Given the description of an element on the screen output the (x, y) to click on. 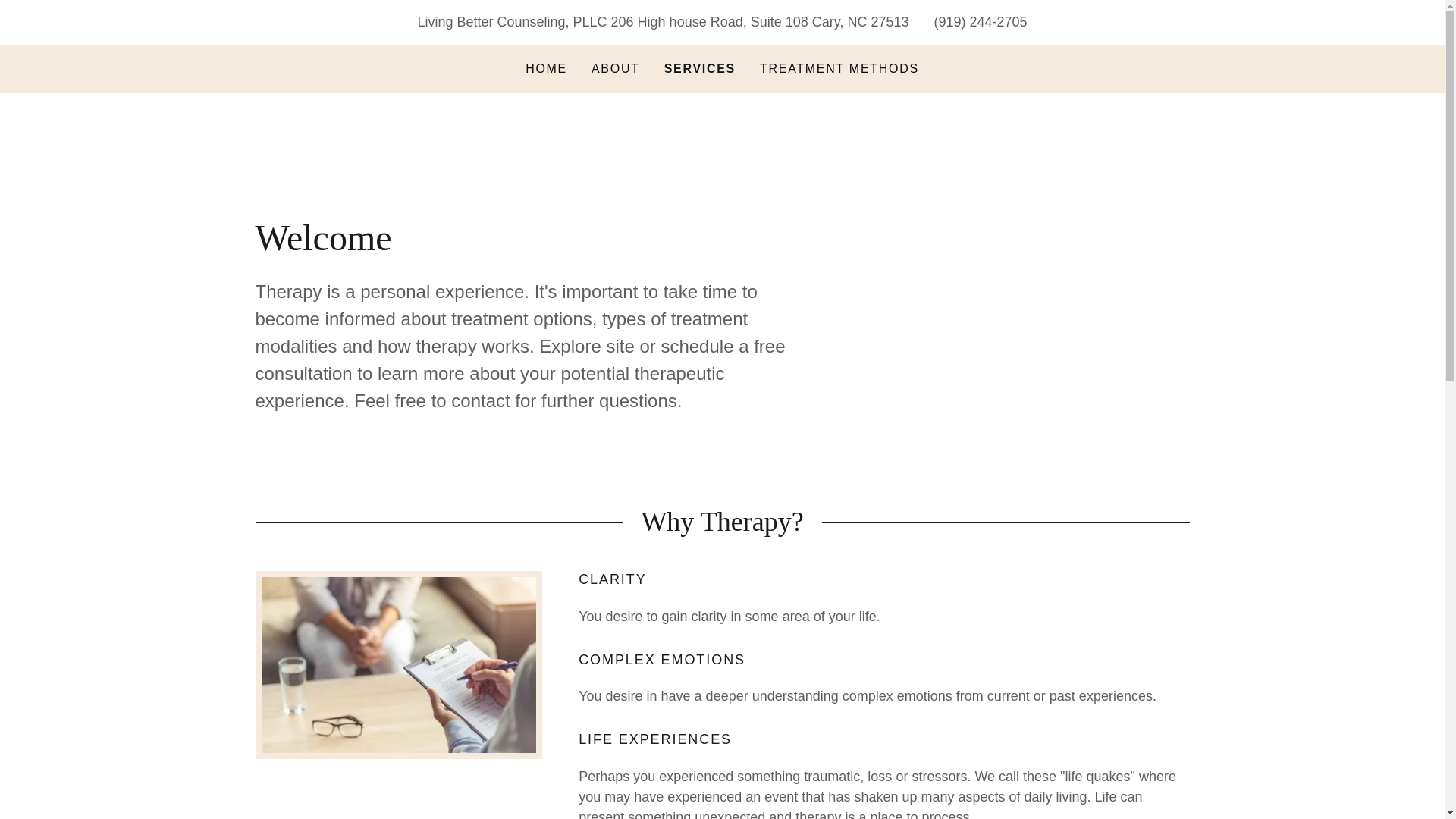
HOME (546, 68)
SERVICES (699, 68)
ABOUT (615, 68)
TREATMENT METHODS (839, 68)
